Given the description of an element on the screen output the (x, y) to click on. 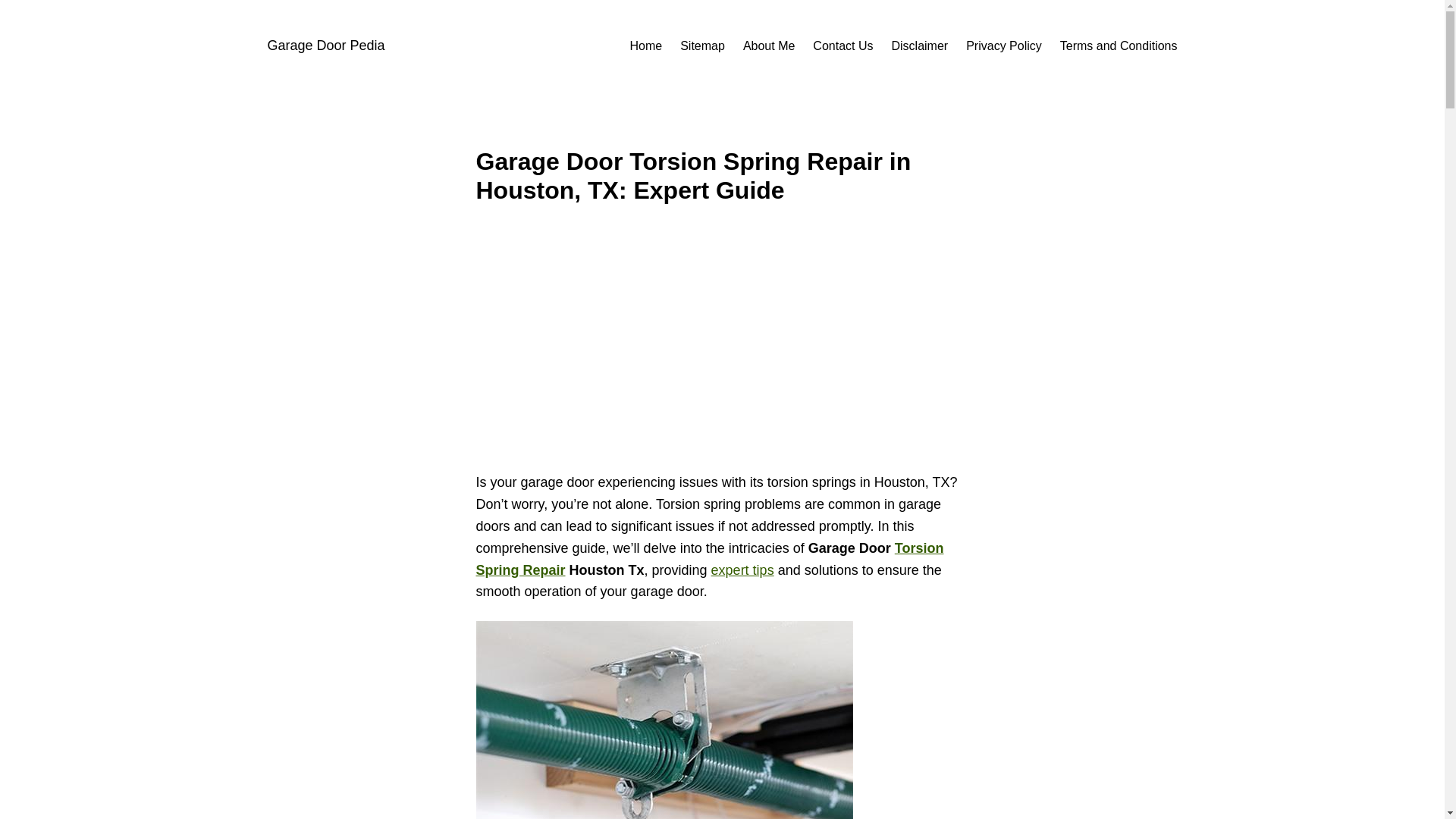
Contact Us (842, 46)
Home (645, 46)
Privacy Policy (1004, 46)
About Me (768, 46)
Terms and Conditions (1118, 46)
expert tips (742, 570)
Garage Door Pedia (325, 45)
Sitemap (702, 46)
Advertisement (722, 346)
Disclaimer (920, 46)
